Given the description of an element on the screen output the (x, y) to click on. 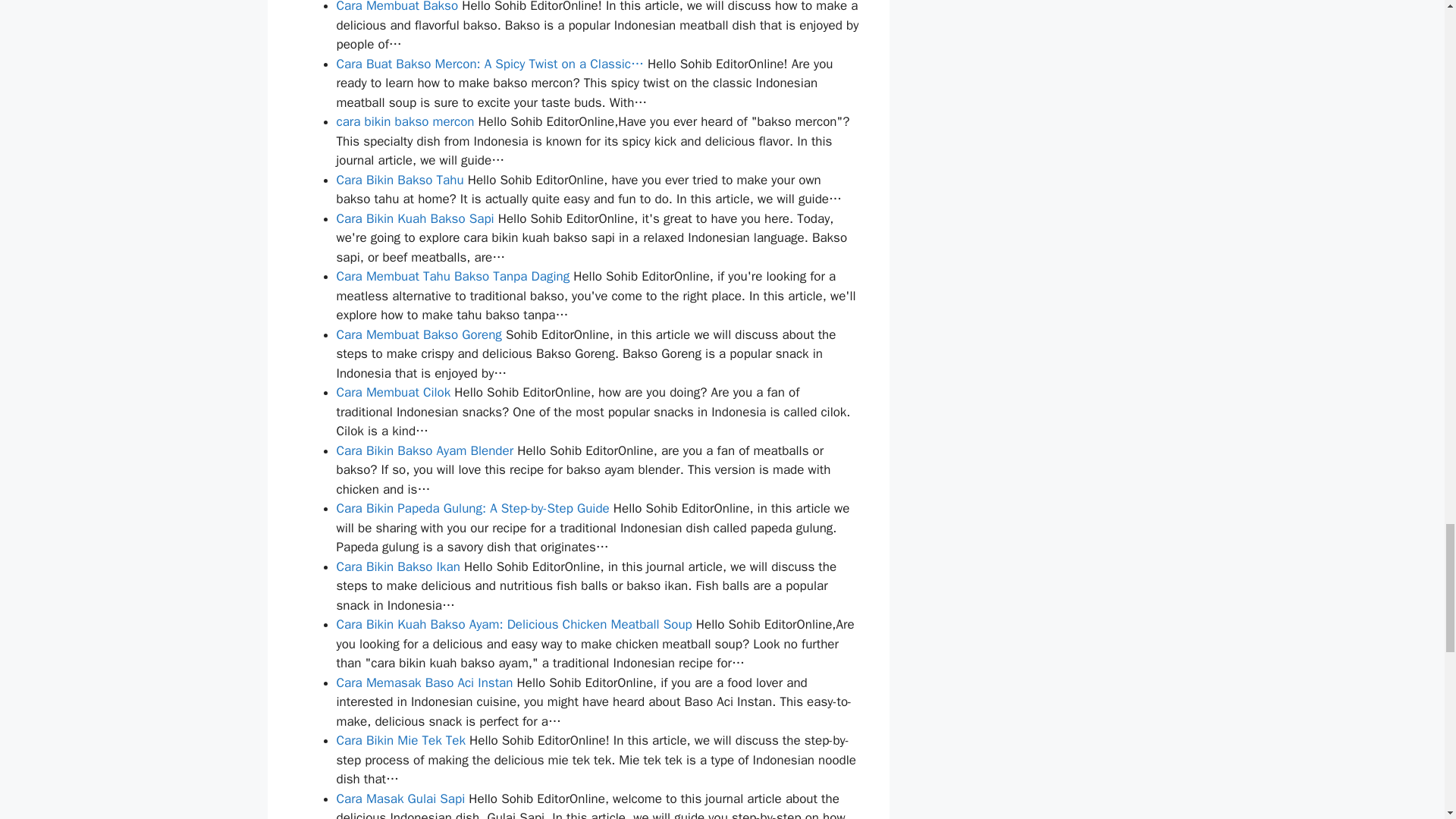
Cara Membuat Bakso (397, 6)
